Given the description of an element on the screen output the (x, y) to click on. 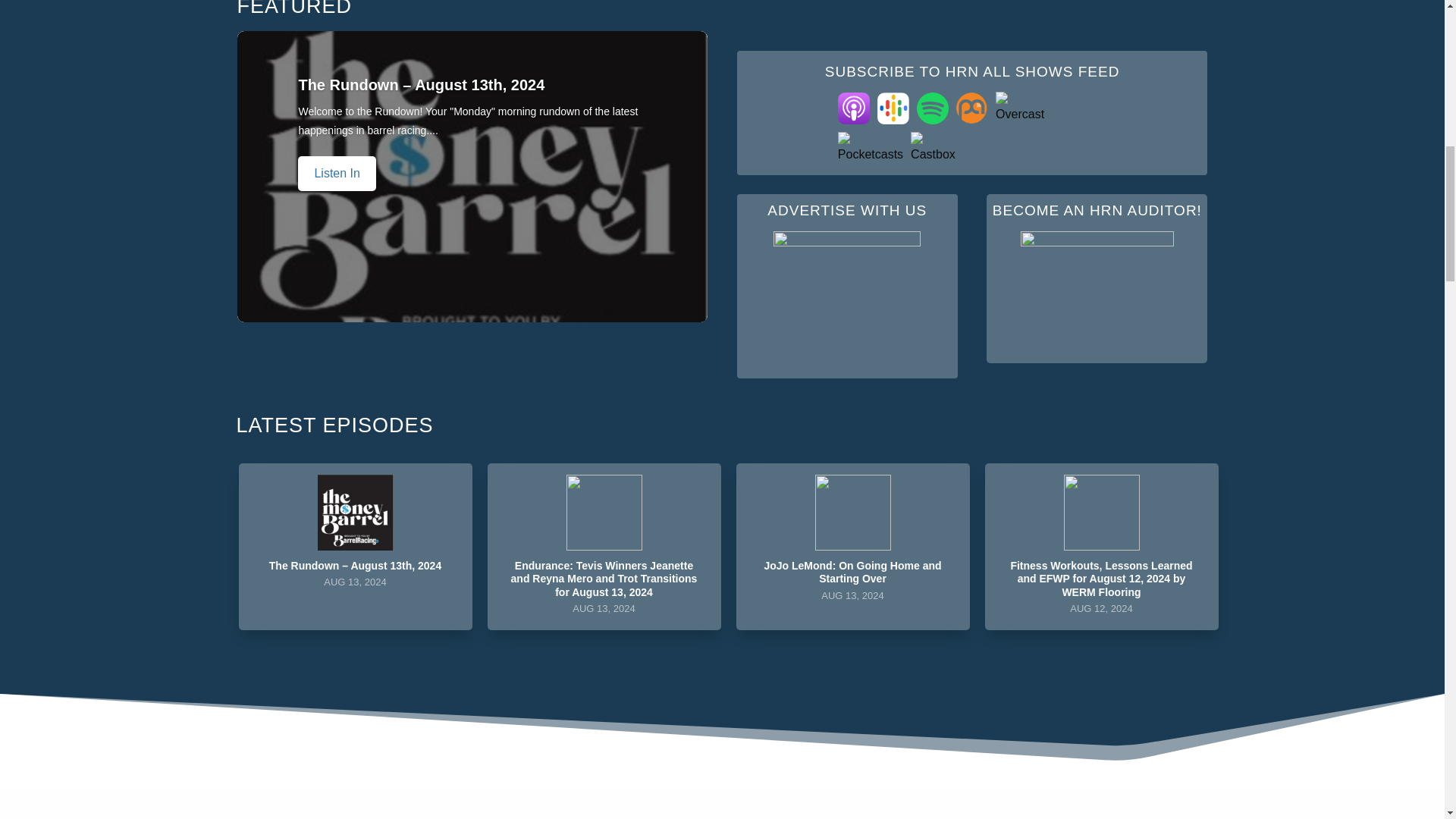
purina-ad (846, 294)
HRN-Auditor (1096, 286)
Listen In (852, 546)
